Given the description of an element on the screen output the (x, y) to click on. 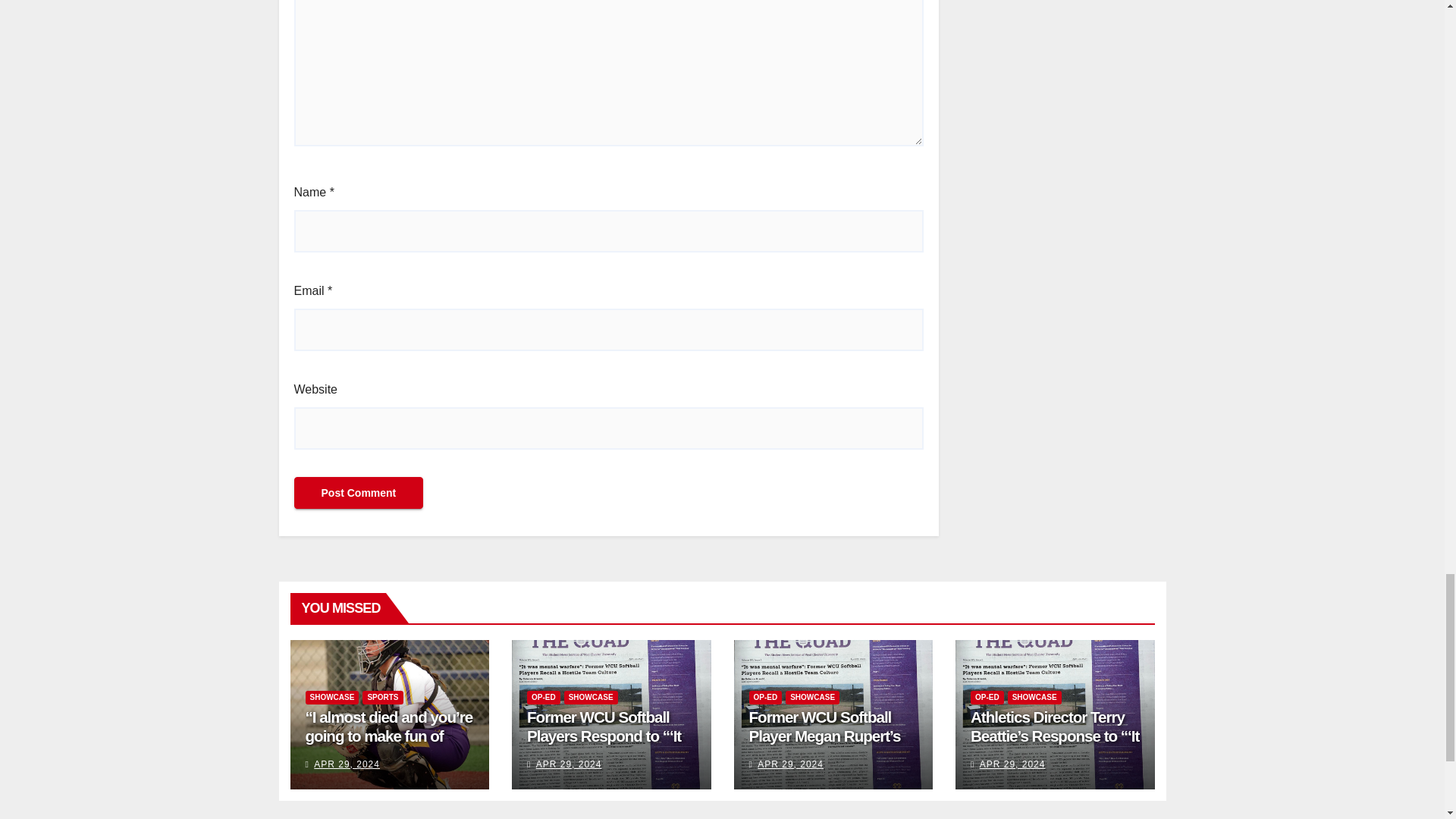
Post Comment (358, 492)
